Given the description of an element on the screen output the (x, y) to click on. 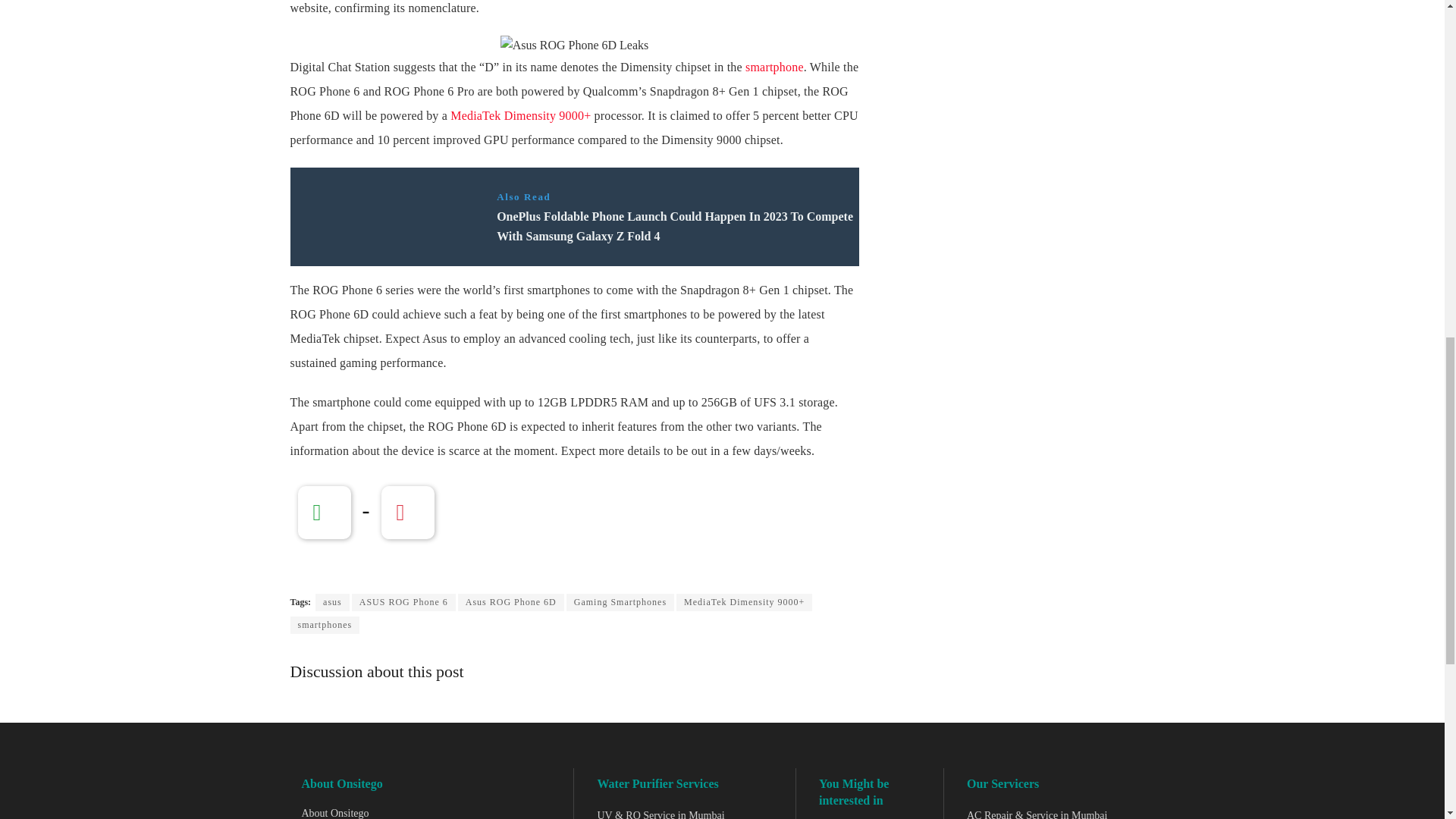
smartphone (774, 66)
